Given the description of an element on the screen output the (x, y) to click on. 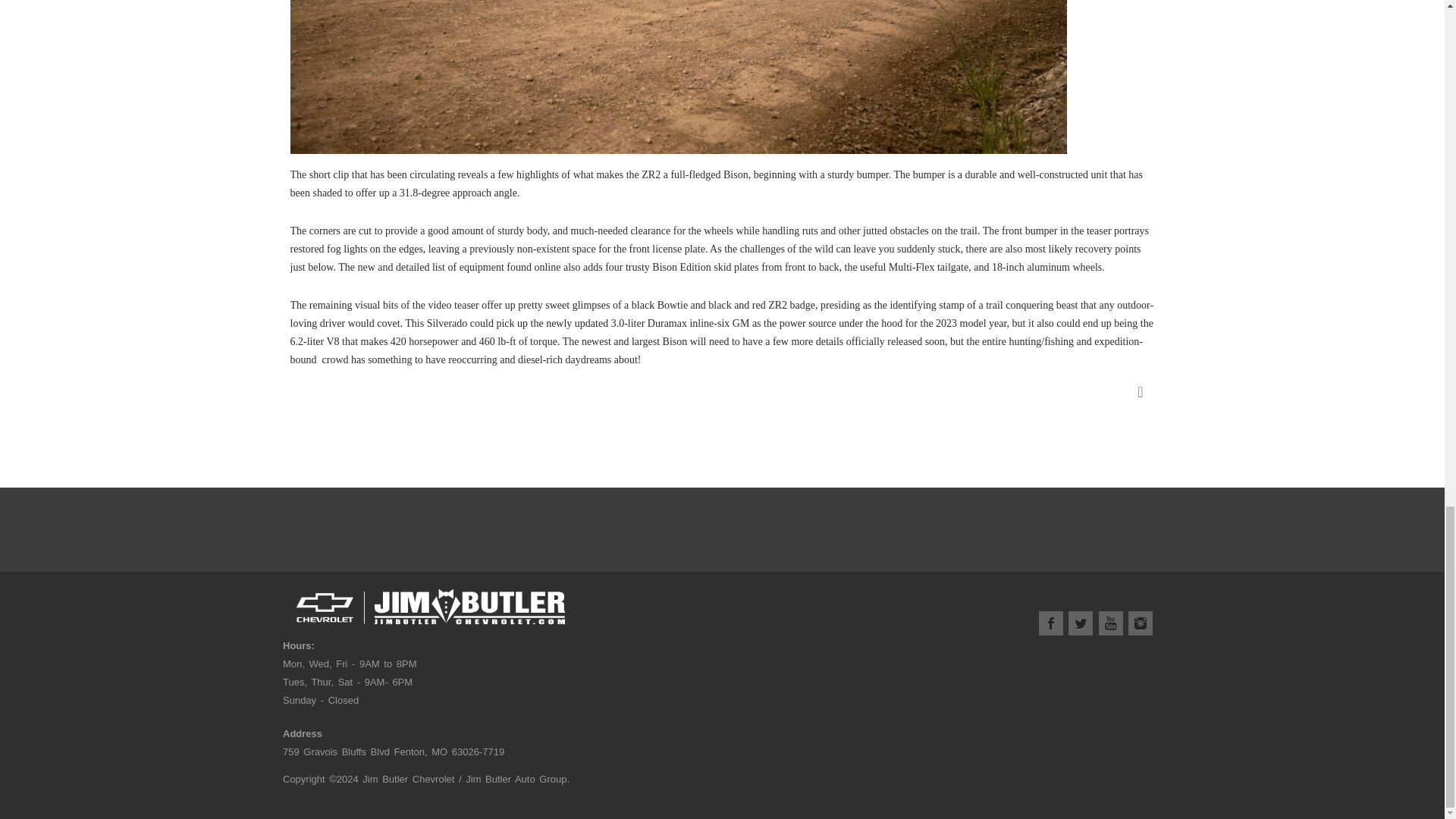
Jim Butler Auto Group (515, 778)
Jim Butler Chevrolet (408, 778)
